Given the description of an element on the screen output the (x, y) to click on. 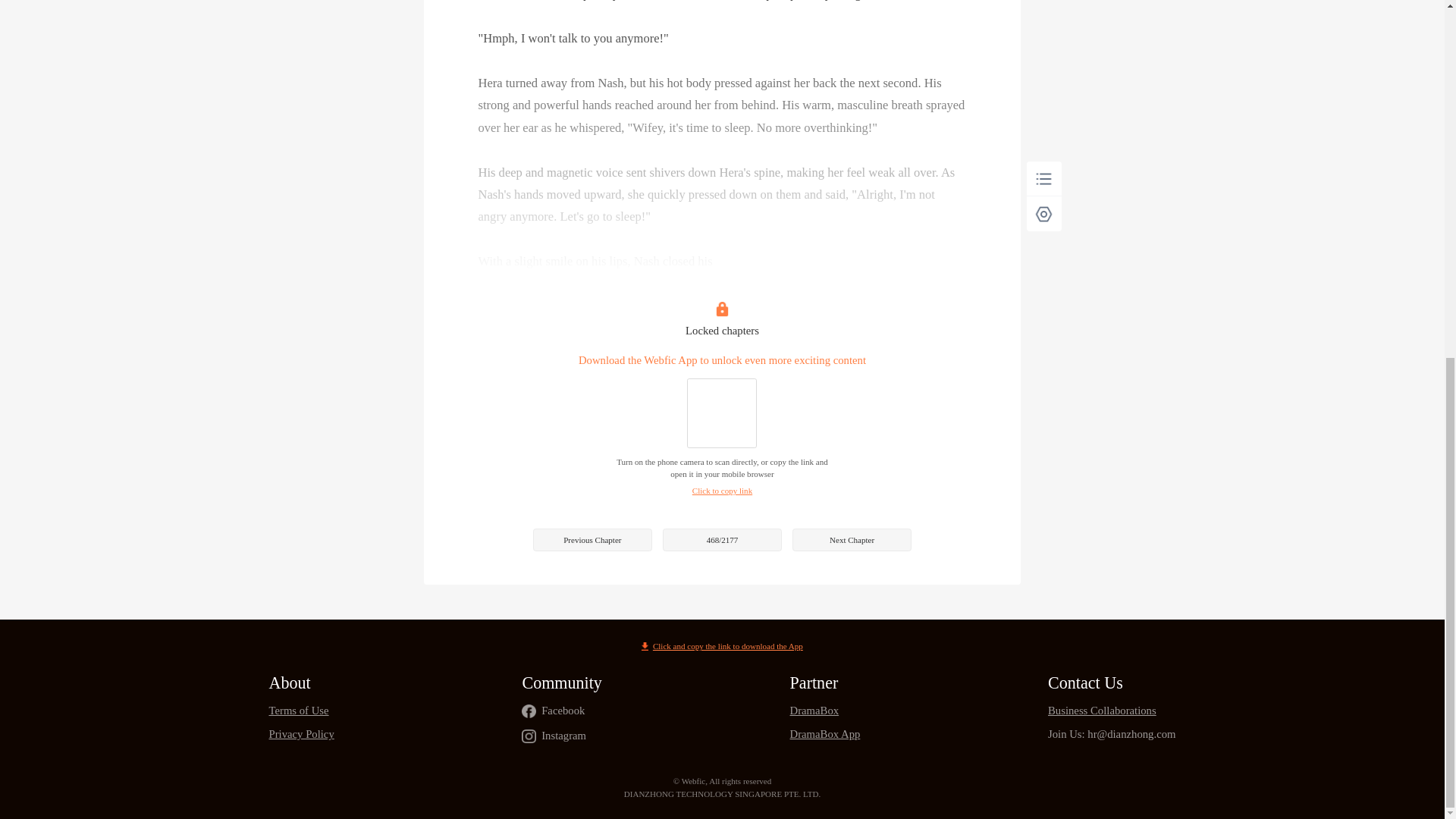
Facebook (563, 710)
Instagram (563, 735)
Terms of Use (300, 710)
Privacy Policy (300, 734)
Business Collaborations (1112, 710)
Next Chapter (851, 539)
DramaBox (825, 710)
DramaBox App (825, 734)
Previous Chapter (591, 539)
